Given the description of an element on the screen output the (x, y) to click on. 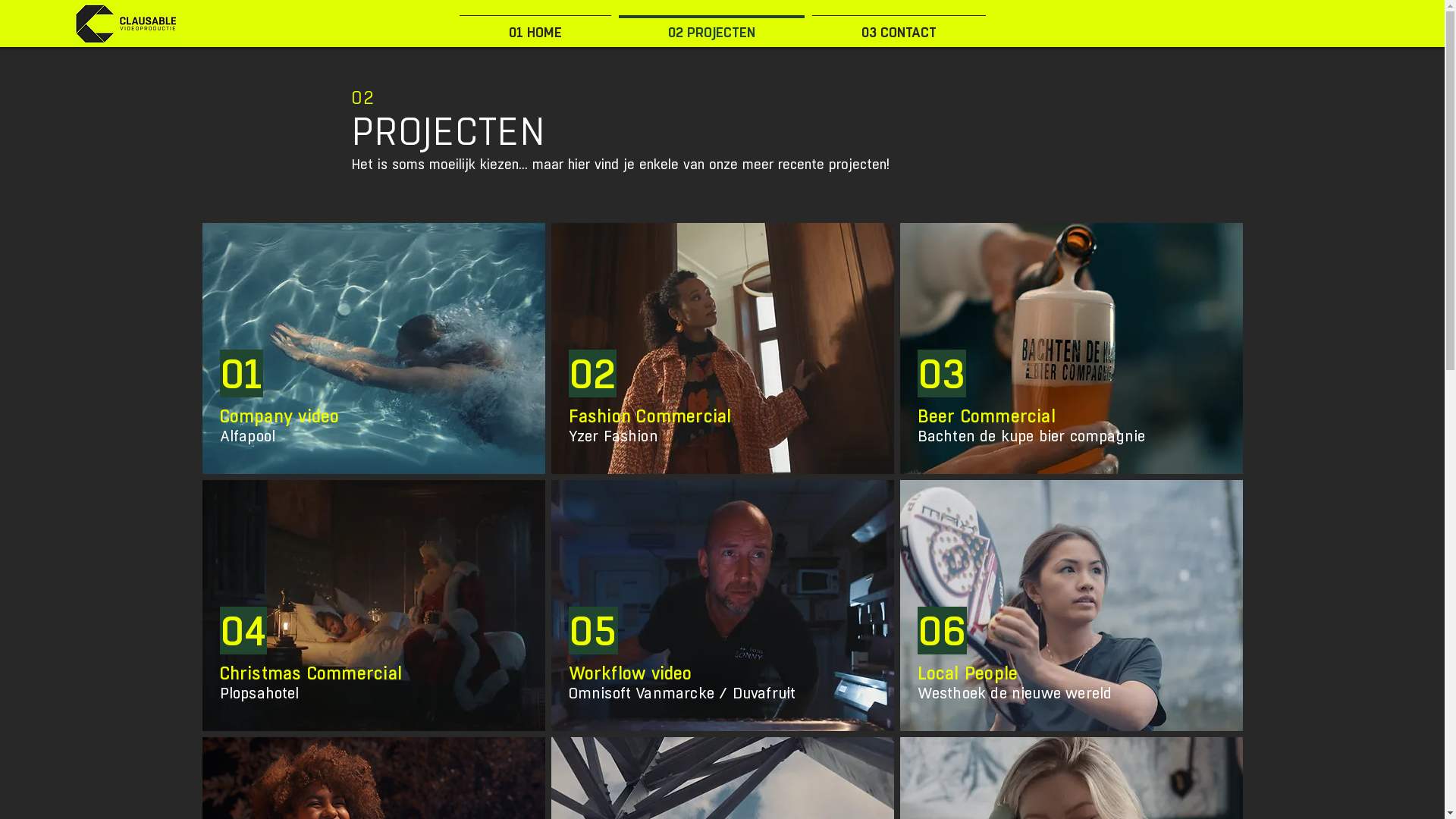
01 HOME Element type: text (534, 25)
Bachten de kupe bier compagnie Element type: text (1031, 436)
01 Element type: text (241, 374)
03 Element type: text (941, 374)
Beer Commercial Element type: text (986, 416)
Alfapool Element type: text (247, 436)
Company video Element type: text (279, 416)
Omnisoft Vanmarcke / Duvafruit Element type: text (682, 693)
02 PROJECTEN Element type: text (710, 25)
Fashion Commercial Element type: text (649, 416)
Workflow video Element type: text (630, 673)
04 Element type: text (242, 631)
Westhoek de nieuwe wereld Element type: text (1014, 693)
Local People Element type: text (967, 673)
05 Element type: text (593, 631)
Plopsahotel Element type: text (259, 693)
02 Element type: text (592, 374)
03 CONTACT Element type: text (898, 25)
Christmas Commercial Element type: text (310, 673)
06 Element type: text (941, 631)
Yzer Fashion Element type: text (613, 436)
